Given the description of an element on the screen output the (x, y) to click on. 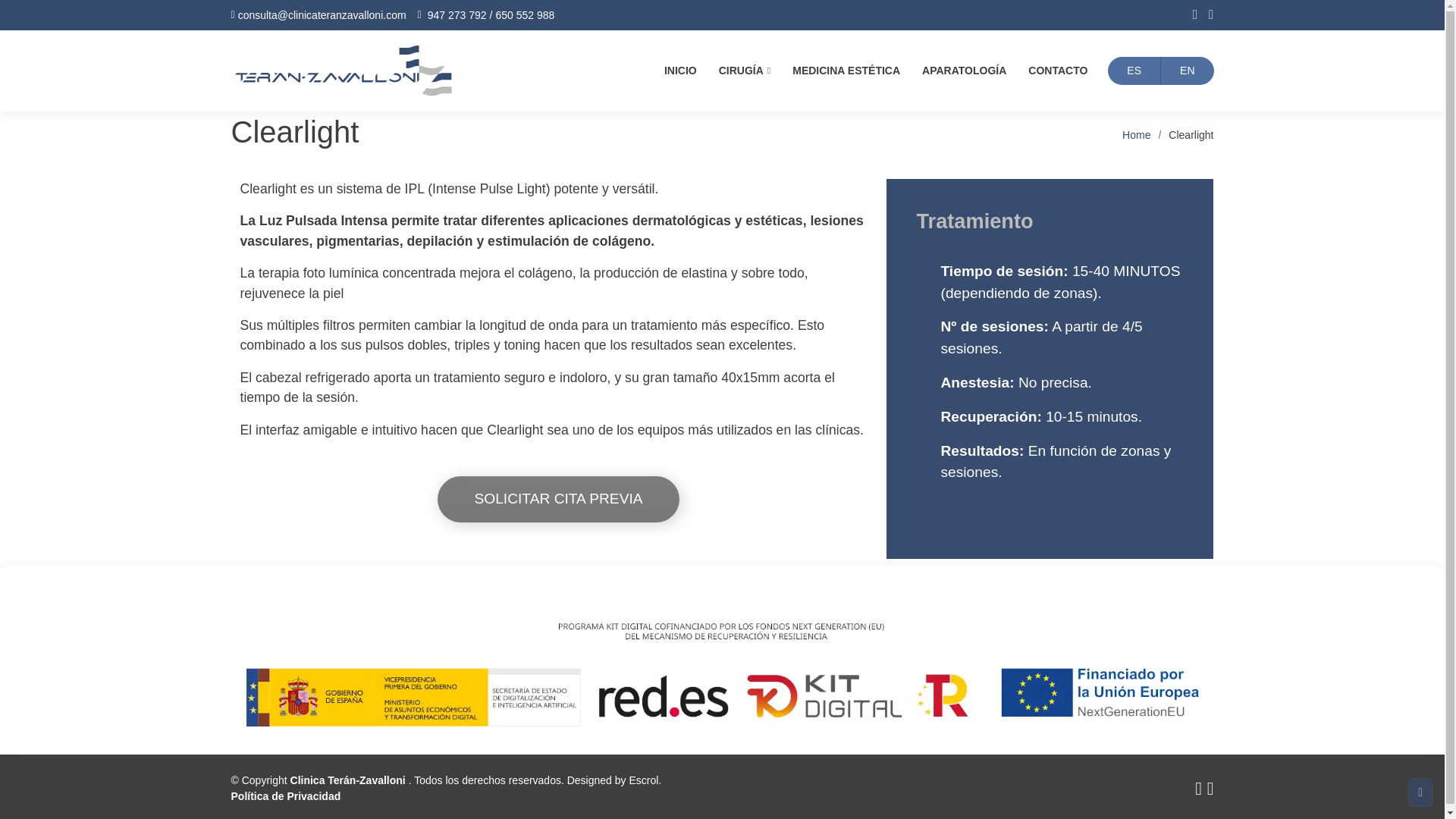
ES (1134, 70)
947 273 792 (457, 14)
ES (1134, 70)
SOLICITAR CITA PREVIA (558, 498)
EN (1186, 70)
INICIO (680, 70)
CONTACTO (1057, 70)
Inicio (680, 70)
CONTACTO (1057, 70)
EN (1186, 70)
EN (1186, 70)
INICIO (680, 70)
650 552 988 (524, 14)
Instagram (1188, 15)
Facebook (1204, 15)
